Given the description of an element on the screen output the (x, y) to click on. 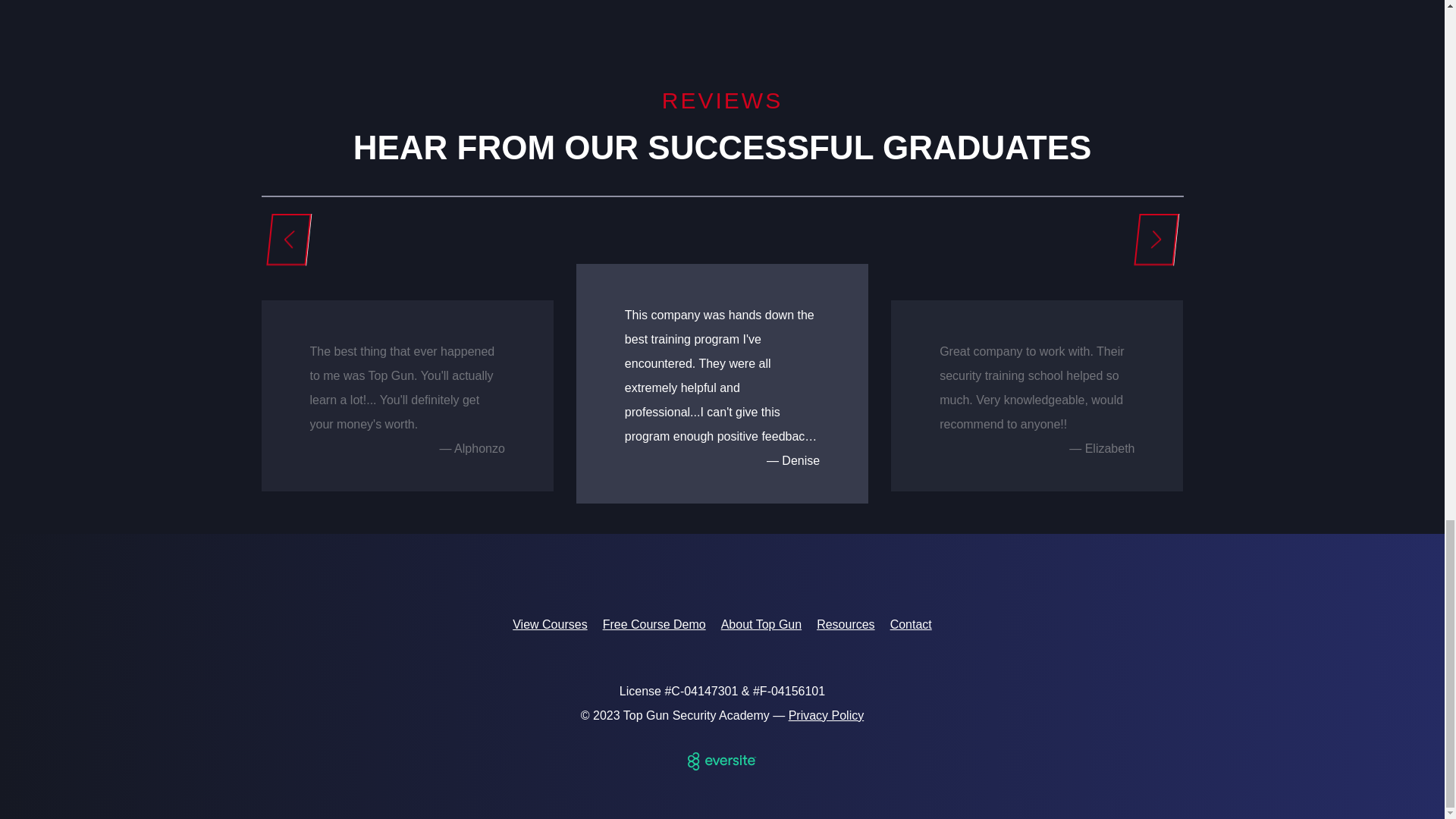
View Courses (549, 624)
About Top Gun (761, 624)
Resources (845, 624)
Contact (910, 624)
Free Course Demo (654, 624)
